Given the description of an element on the screen output the (x, y) to click on. 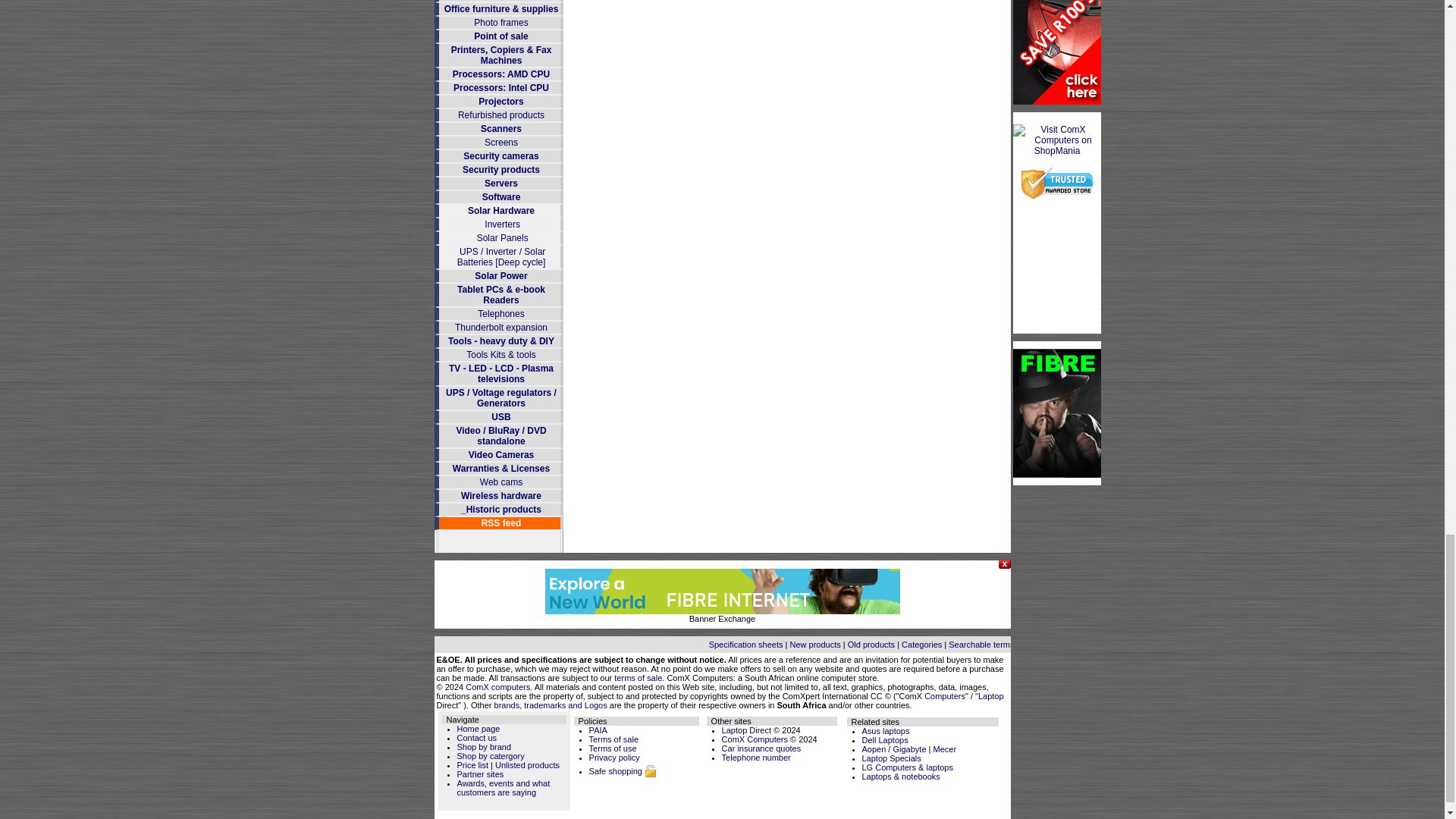
Photo frames (500, 22)
Refurbished products (501, 114)
Thunderbolt expansion (500, 327)
Screens (501, 142)
Telephones (500, 313)
Visit ComX Computers on ShopMania (1057, 150)
